Given the description of an element on the screen output the (x, y) to click on. 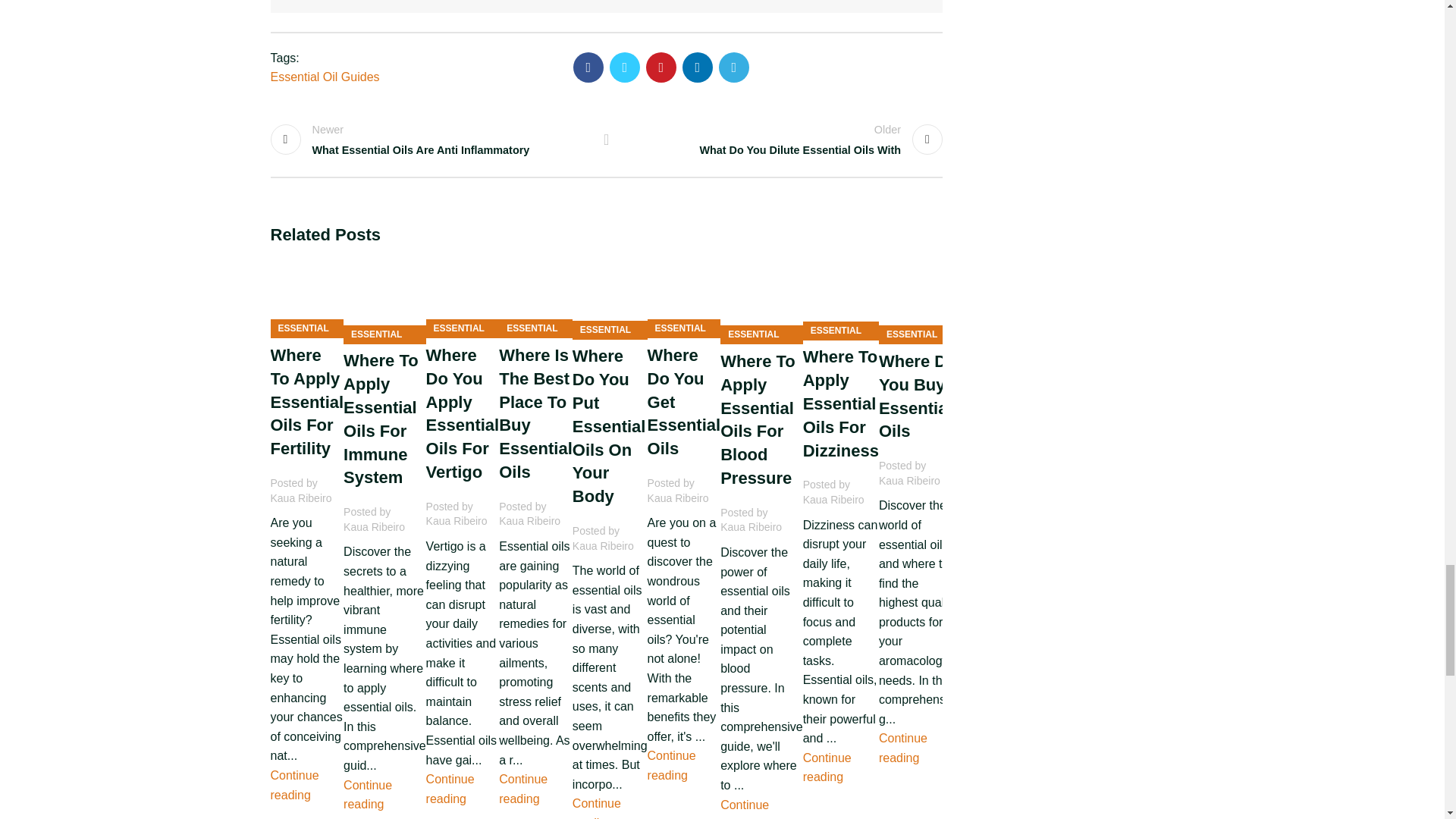
Where To Apply Essential Oils For Fertility (306, 295)
Where Do You Apply Essential Oils For Vertigo (462, 295)
Where To Apply Essential Oils For Immune System (384, 298)
Where Do You Get Essential Oils (683, 295)
Where To Apply Essential Oils For Blood Pressure (761, 298)
Where Do You Put Essential Oils On Your Body (609, 296)
Where Is The Best Place To Buy Essential Oils (535, 295)
Where Do You Buy Essential Oils (919, 298)
Where To Apply Essential Oils For Dizziness (841, 296)
